Given the description of an element on the screen output the (x, y) to click on. 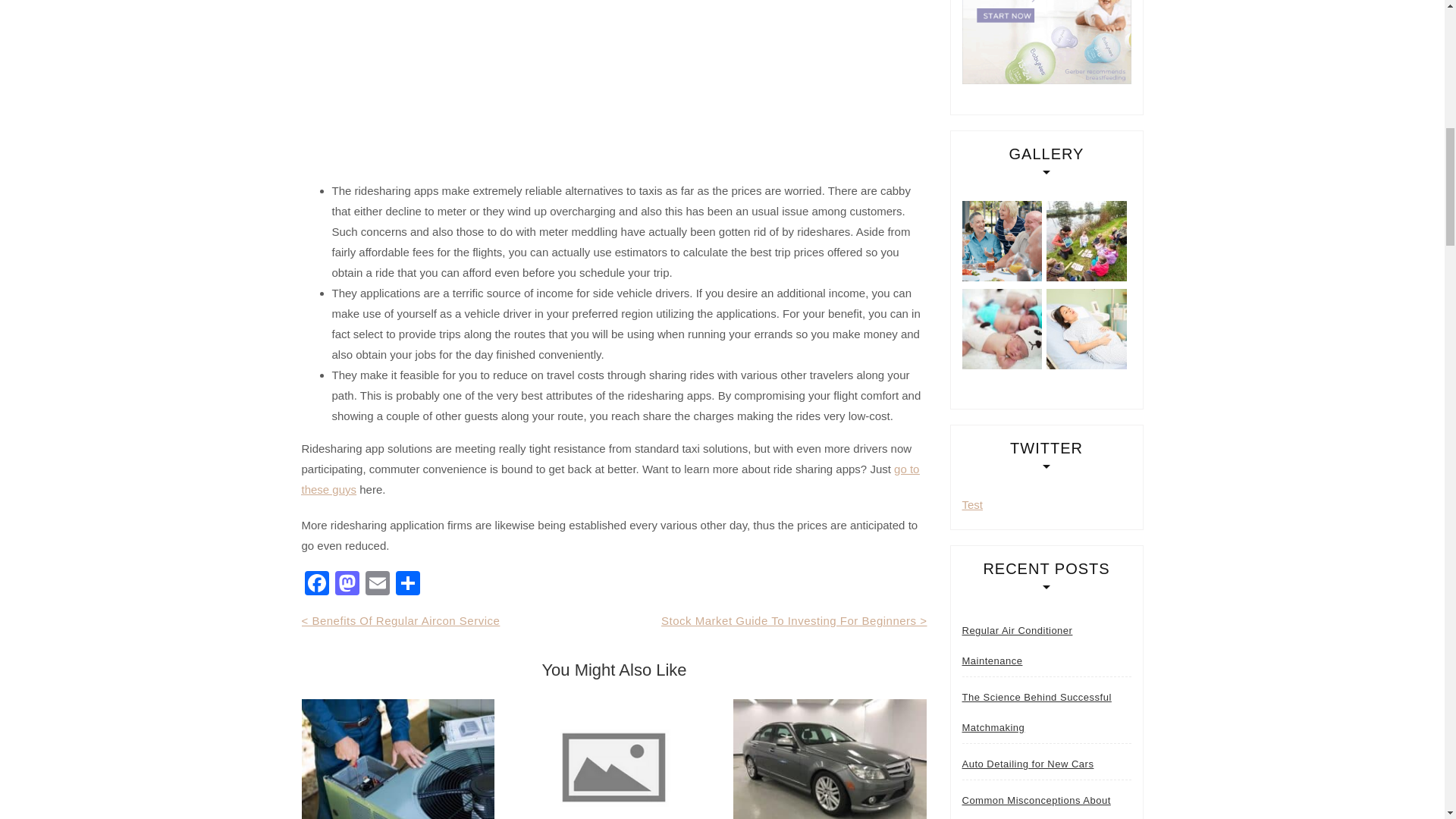
Email (377, 584)
Mastodon (346, 584)
Email (377, 584)
Facebook (316, 584)
Test (971, 504)
The Science Behind Successful Matchmaking (1045, 712)
Common Misconceptions About Plumbing Maintenance (1045, 802)
Auto Detailing for New Cars (1026, 764)
Facebook (316, 584)
go to these guys (610, 479)
